Given the description of an element on the screen output the (x, y) to click on. 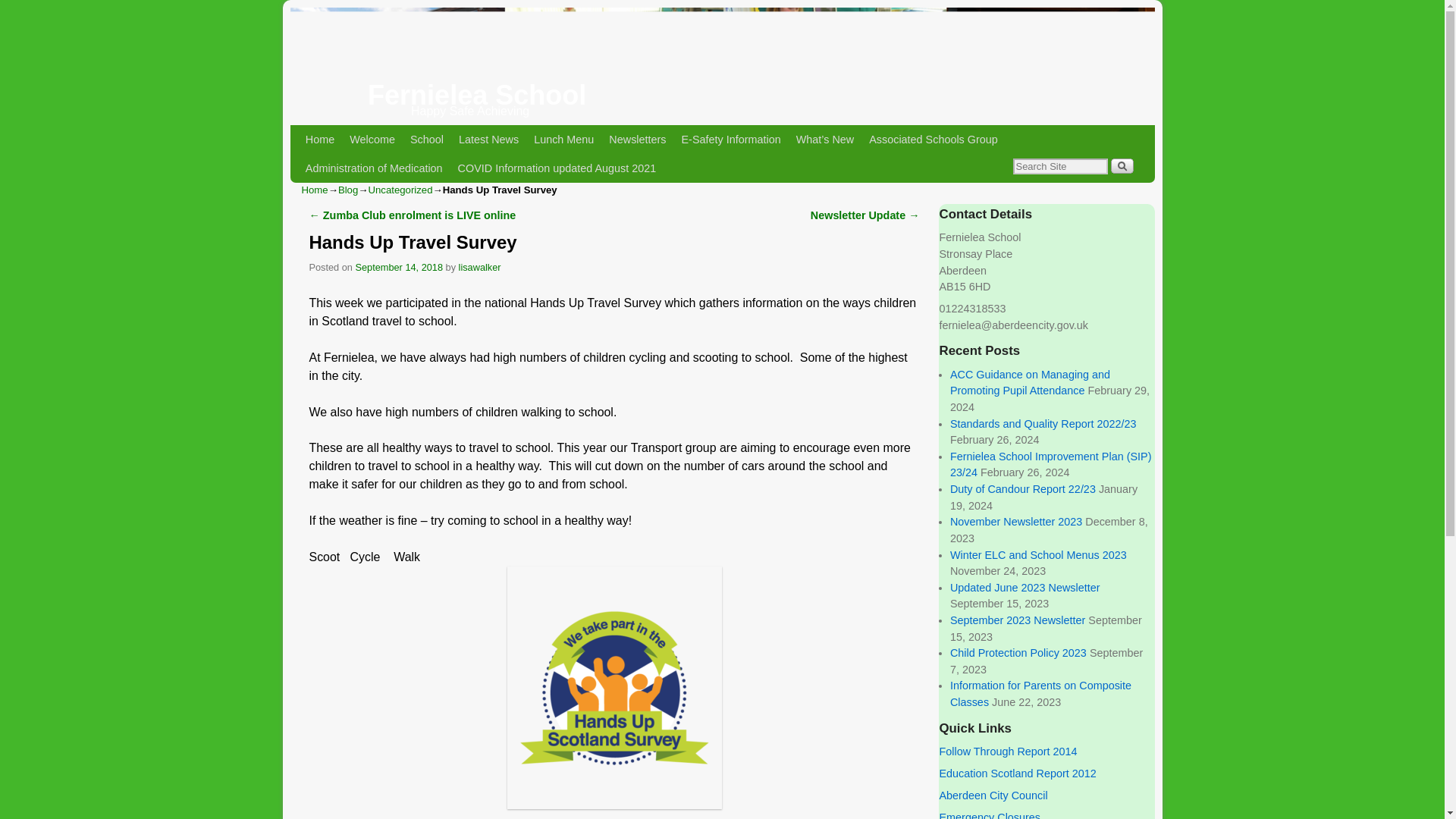
E-Safety Information (731, 139)
COVID Information updated August 2021 (556, 167)
Welcome (372, 139)
Fernielea School (477, 94)
School (427, 139)
9:19 am (398, 266)
View all posts by lisawalker (479, 266)
Skip to primary content (368, 139)
Latest News (488, 139)
Skip to secondary content (375, 139)
